Given the description of an element on the screen output the (x, y) to click on. 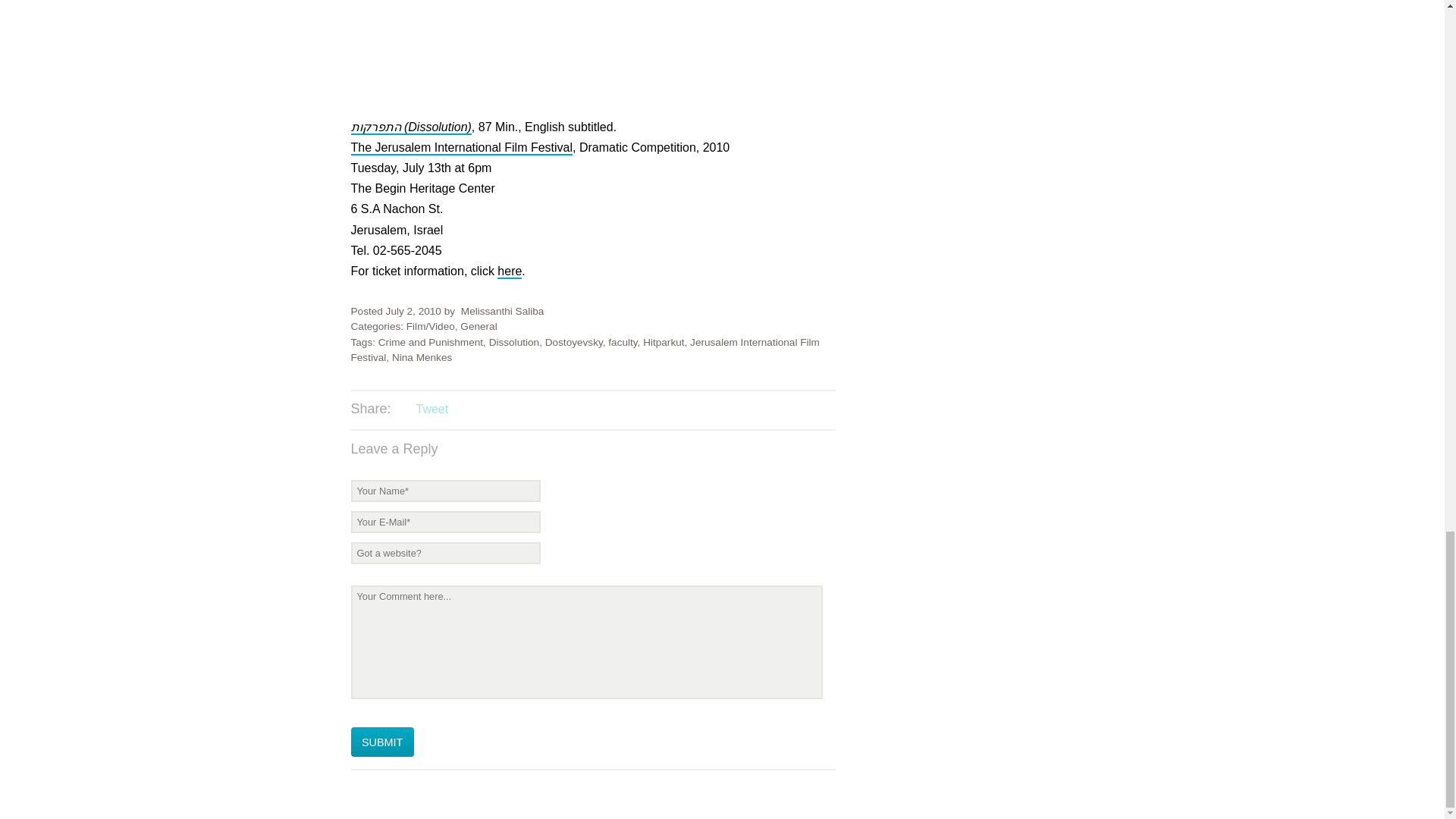
Crime and Punishment (430, 342)
Dostoyevsky (573, 342)
Melissanthi Saliba (502, 310)
General (478, 326)
Share on Tumblr (493, 409)
Share on Tumblr (493, 409)
The Jerusalem International Film Festival (461, 147)
Jerusalem International Film Festival (584, 349)
Tweet (431, 408)
here (509, 271)
